Given the description of an element on the screen output the (x, y) to click on. 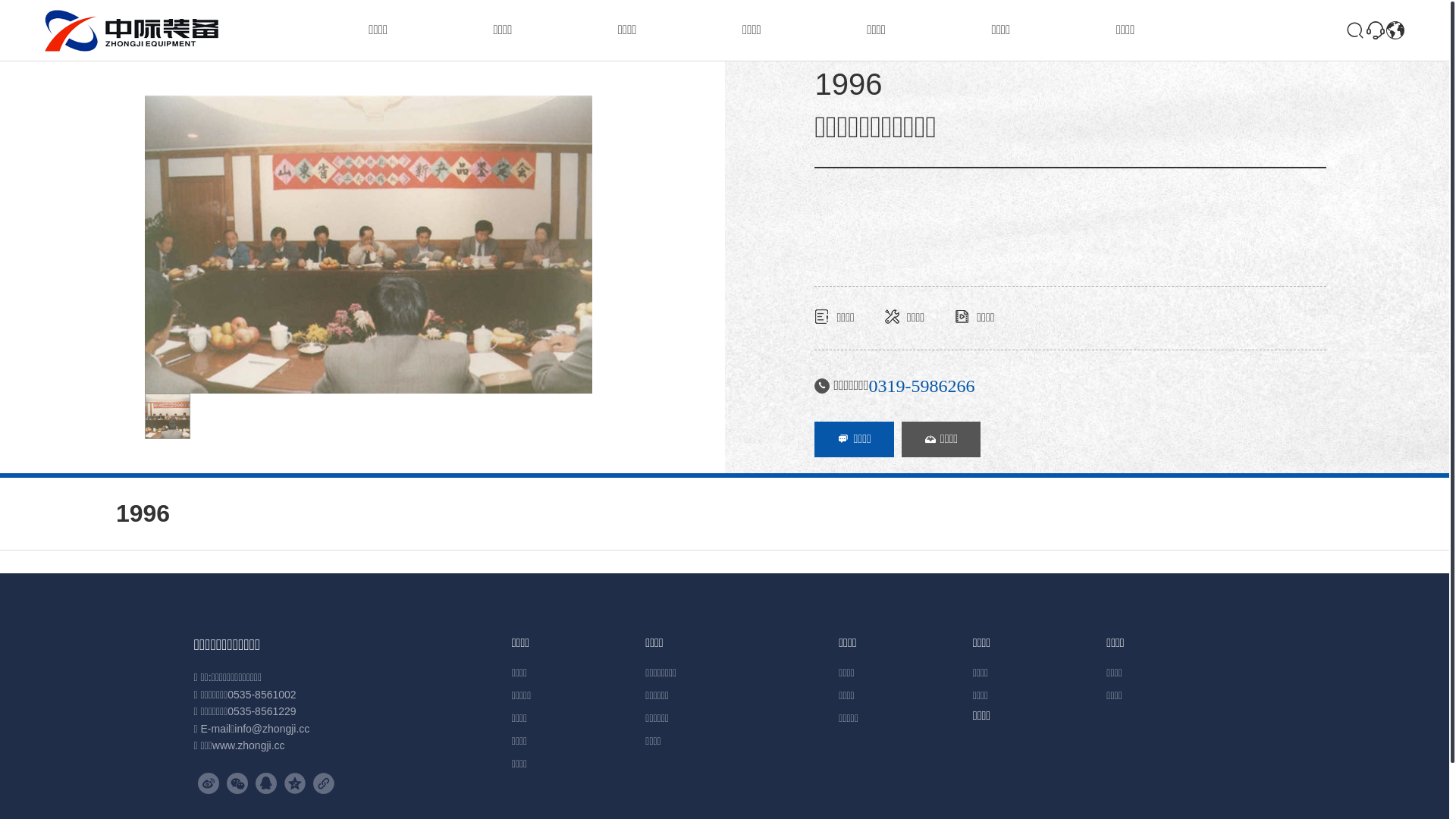
www.zhongji.cc Element type: text (248, 745)
0535-8561002 Element type: text (261, 694)
info@zhongji.cc Element type: text (271, 728)
0319-5986266 Element type: text (921, 385)
